Given the description of an element on the screen output the (x, y) to click on. 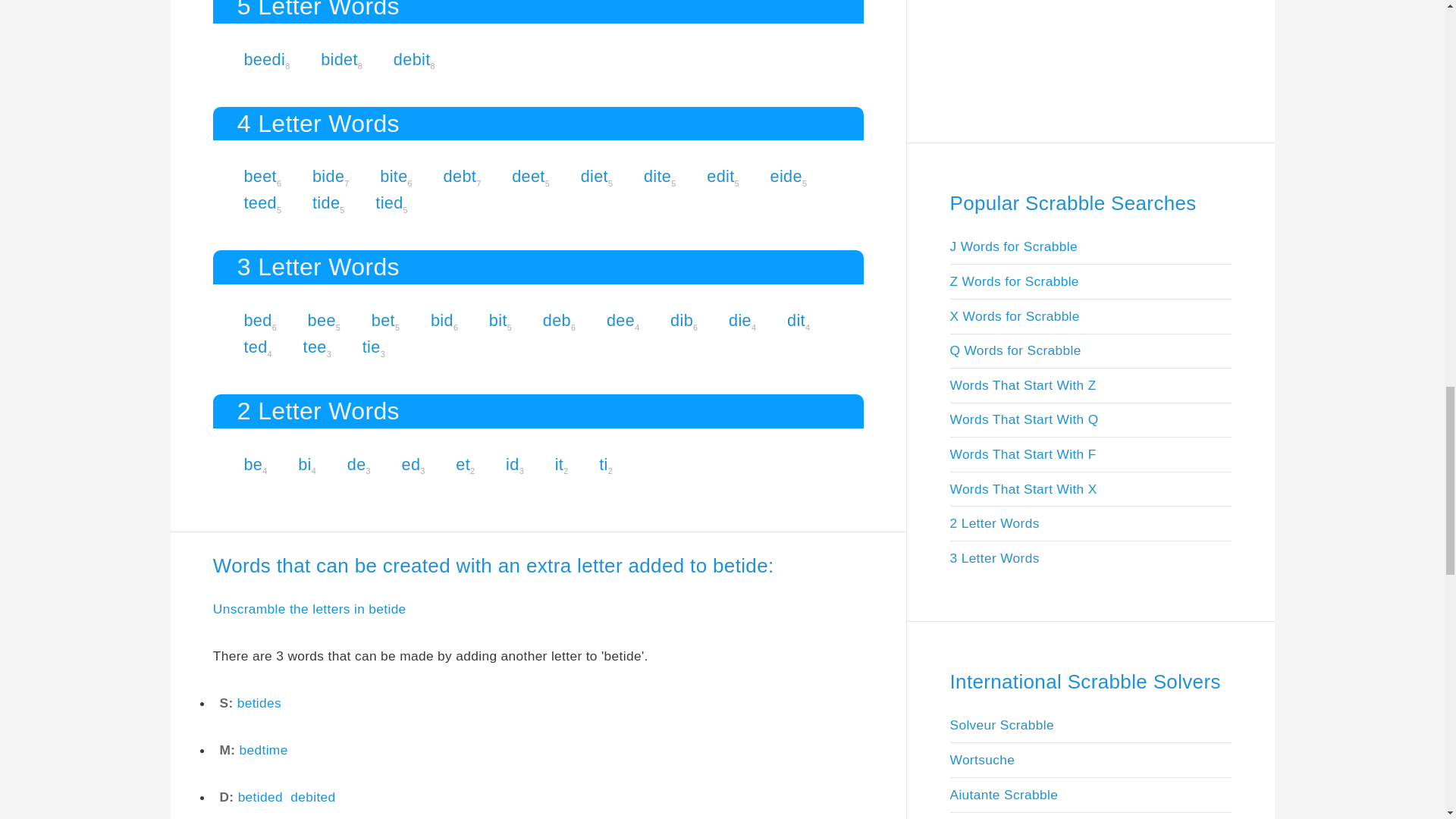
beedi (264, 58)
debit (411, 58)
bidet (339, 58)
beet (259, 176)
bide (328, 176)
bite (393, 176)
